Given the description of an element on the screen output the (x, y) to click on. 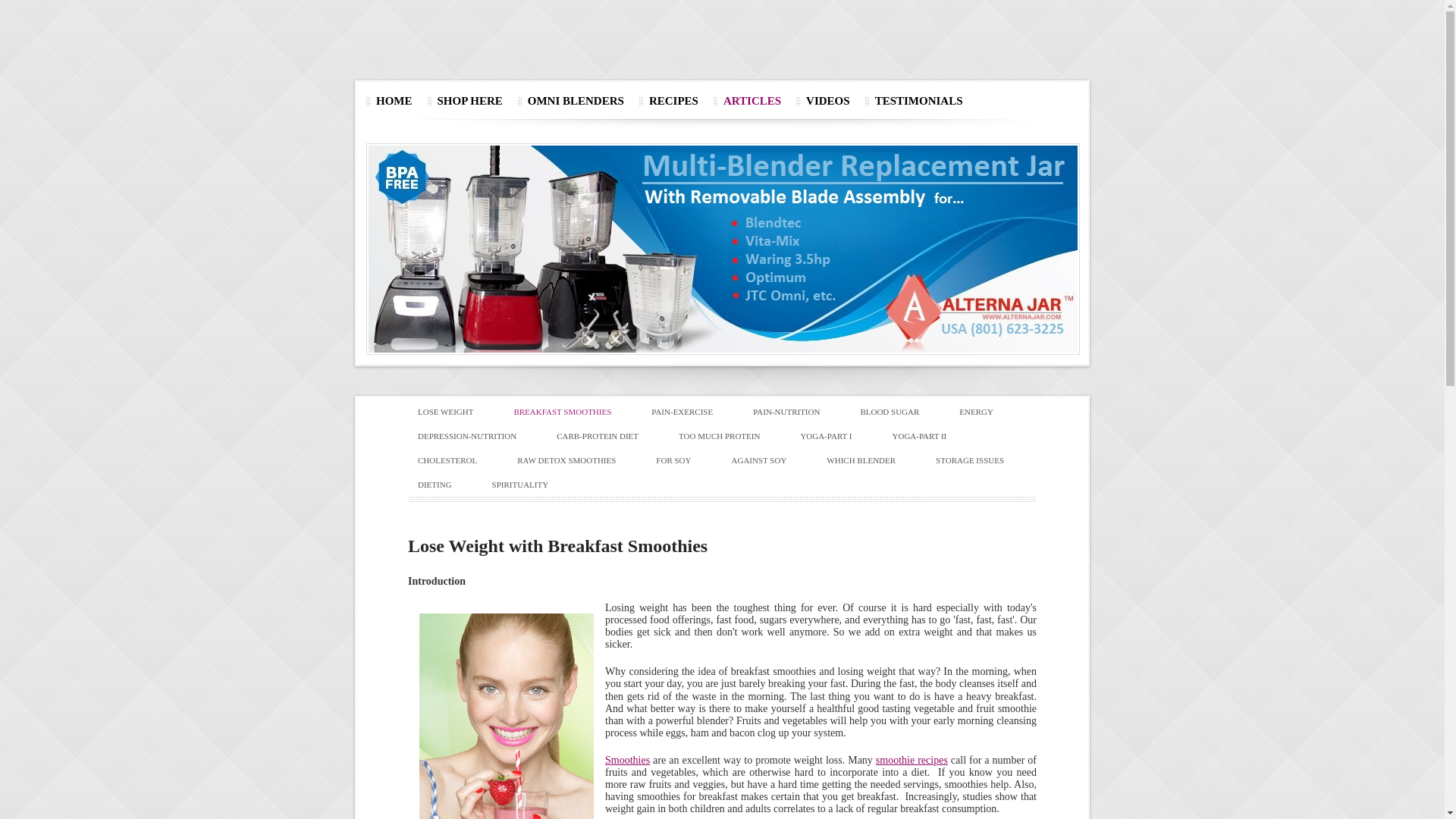
DEPRESSION-NUTRITION Element type: text (476, 435)
CARB-PROTEIN DIET Element type: text (607, 435)
TESTIMONIALS Element type: text (921, 100)
HOME Element type: text (396, 100)
LOSE WEIGHT Element type: text (455, 411)
DIETING Element type: text (444, 484)
SPIRITUALITY Element type: text (530, 484)
CHOLESTEROL Element type: text (457, 460)
YOGA-PART II Element type: text (929, 435)
Smoothies Element type: text (627, 759)
SHOP HERE Element type: text (472, 100)
ENERGY Element type: text (986, 411)
AGAINST SOY Element type: text (769, 460)
OMNI BLENDERS Element type: text (578, 100)
smoothie recipes Element type: text (911, 759)
ARTICLES Element type: text (754, 100)
BLOOD SUGAR Element type: text (899, 411)
RECIPES Element type: text (676, 100)
RAW DETOX SMOOTHIES Element type: text (576, 460)
PAIN-EXERCISE Element type: text (692, 411)
PAIN-NUTRITION Element type: text (796, 411)
STORAGE ISSUES Element type: text (979, 460)
BREAKFAST SMOOTHIES Element type: text (572, 411)
WHICH BLENDER Element type: text (870, 460)
YOGA-PART I Element type: text (835, 435)
FOR SOY Element type: text (683, 460)
VIDEOS Element type: text (830, 100)
TOO MUCH PROTEIN Element type: text (729, 435)
